Given the description of an element on the screen output the (x, y) to click on. 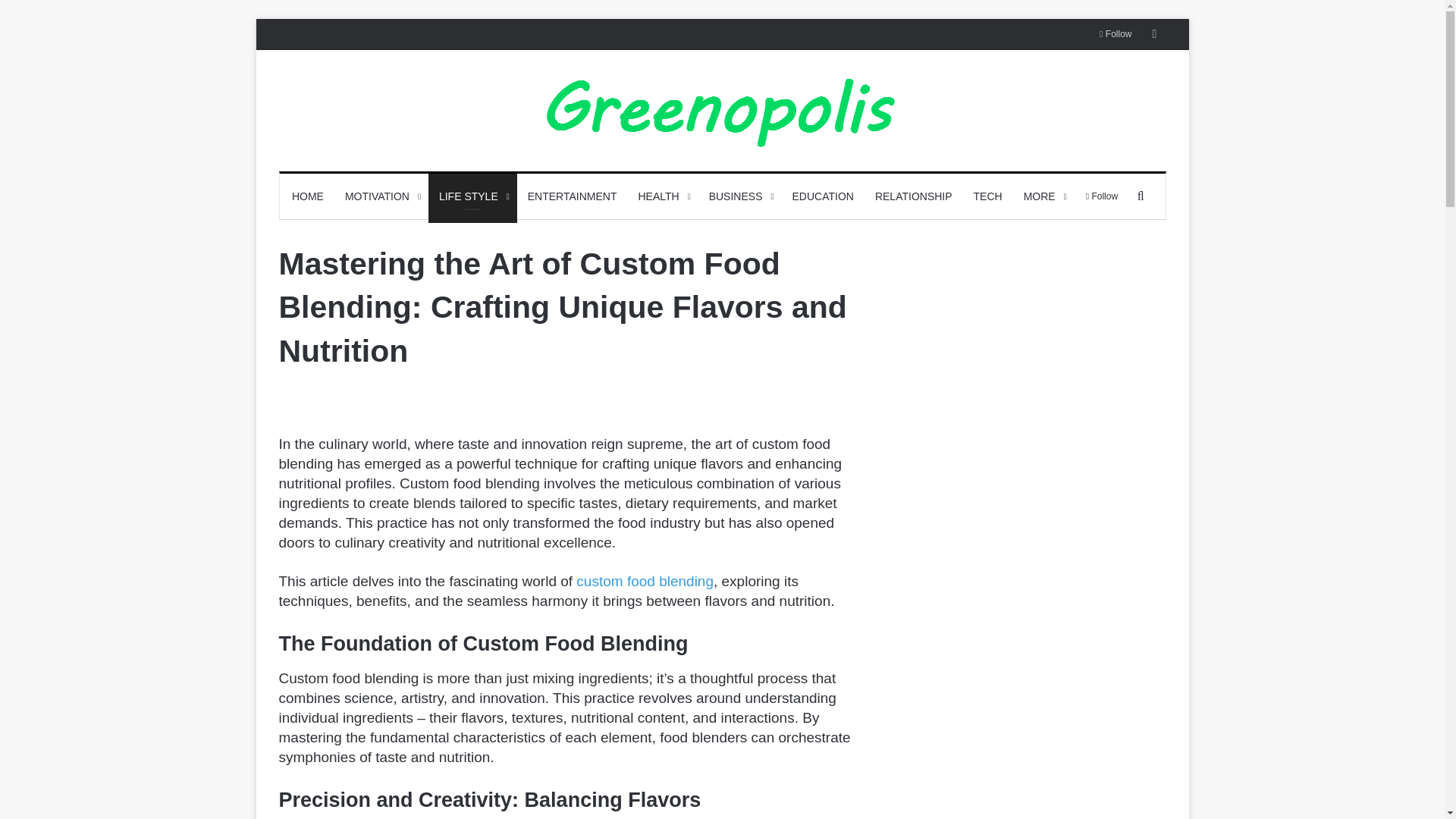
LIFE STYLE (472, 196)
Greenopolis (721, 110)
ENTERTAINMENT (571, 196)
Follow (1114, 33)
MOTIVATION (381, 196)
HEALTH (662, 196)
HOME (307, 196)
